Given the description of an element on the screen output the (x, y) to click on. 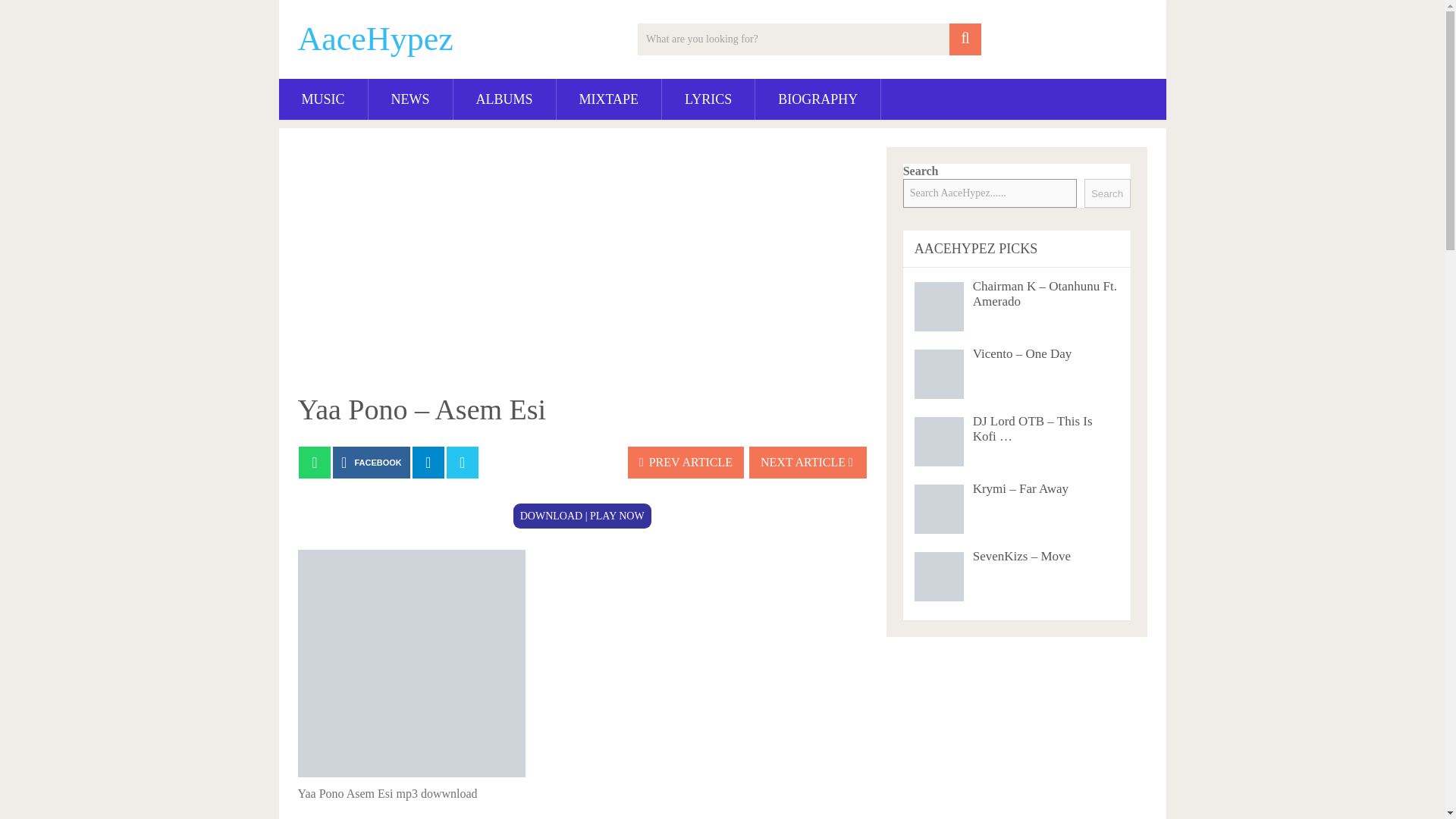
Advertisement (582, 268)
BIOGRAPHY (817, 98)
MIXTAPE (609, 98)
LYRICS (708, 98)
MUSIC (323, 98)
PREV ARTICLE (685, 462)
ALBUMS (504, 98)
NEWS (410, 98)
FACEBOOK (371, 462)
NEXT ARTICLE (807, 462)
